Given the description of an element on the screen output the (x, y) to click on. 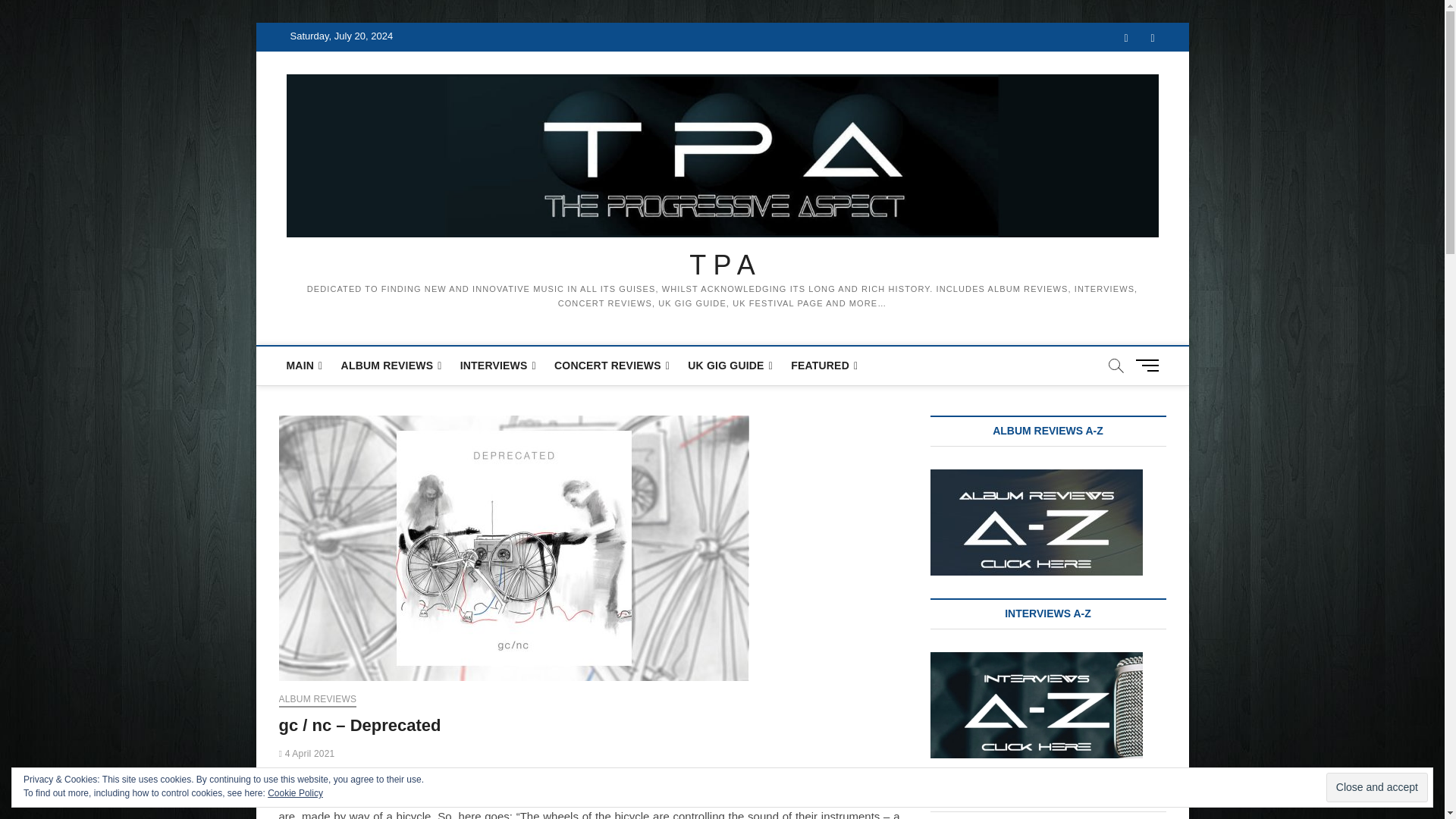
MAIN (304, 365)
Menu Button (1150, 364)
Concert Reviews (612, 365)
T P A (722, 264)
UK GIG GUIDE (729, 365)
ALBUM REVIEWS (317, 700)
Album Reviews (391, 365)
CONCERT REVIEWS (612, 365)
INTERVIEWS (497, 365)
ALBUM REVIEWS (391, 365)
Facebook (1126, 38)
Close and accept (1377, 787)
Facebook (1126, 38)
T P A (722, 264)
